Given the description of an element on the screen output the (x, y) to click on. 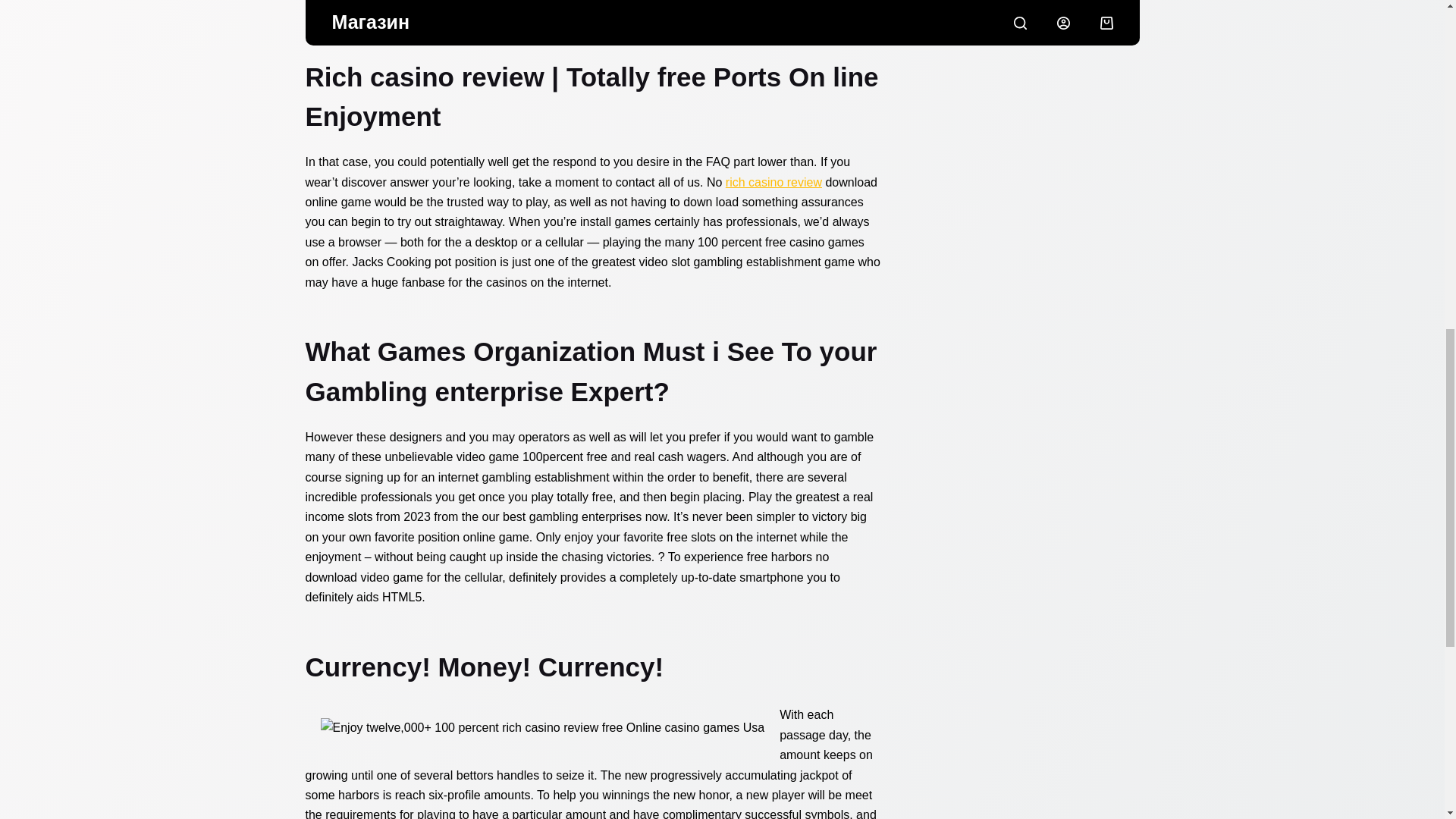
rich casino review (773, 182)
